Given the description of an element on the screen output the (x, y) to click on. 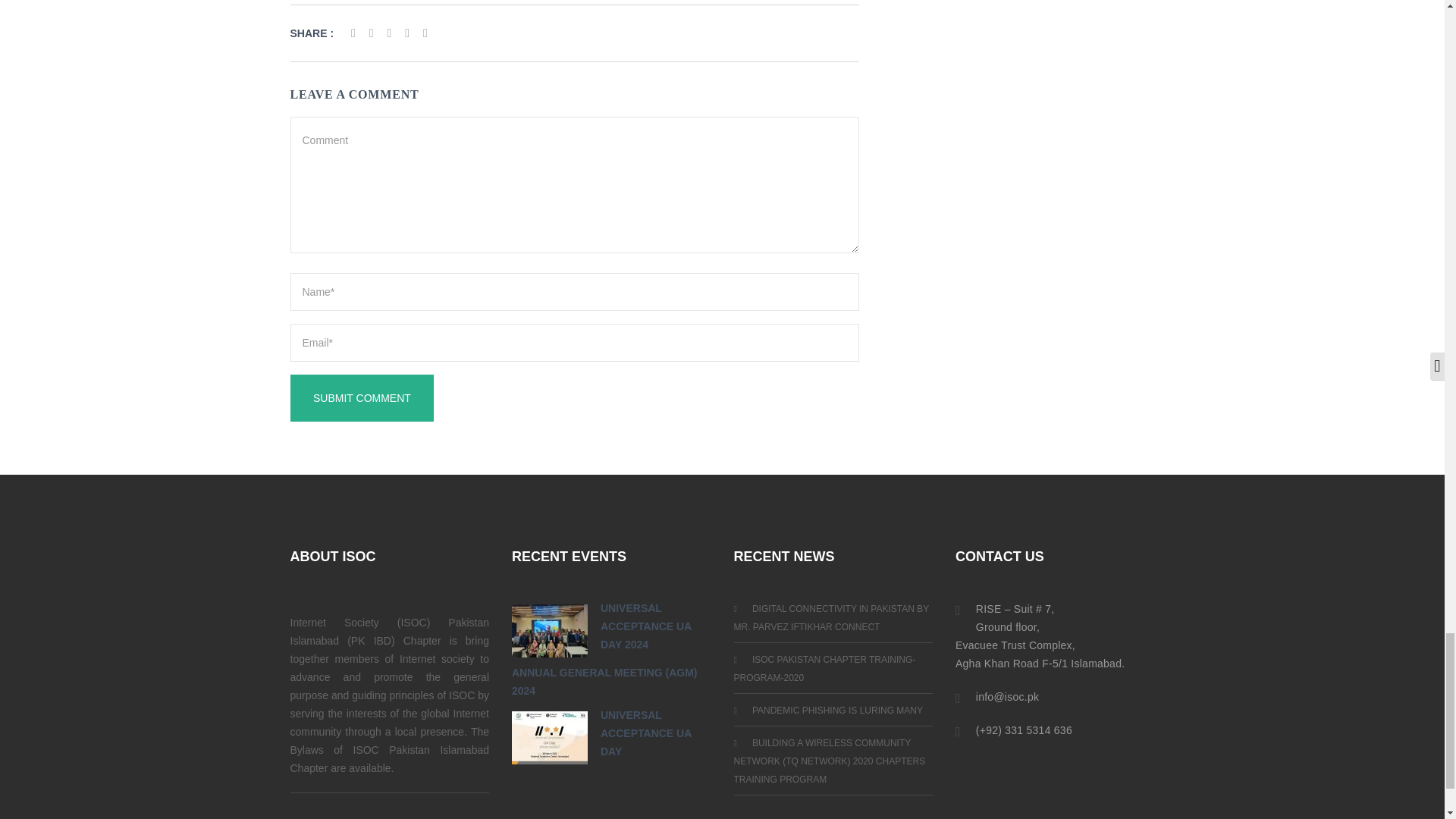
submit comment (361, 397)
Share on Instagram  (406, 33)
Share on Facebook. (353, 33)
Tweet this! (371, 33)
